Given the description of an element on the screen output the (x, y) to click on. 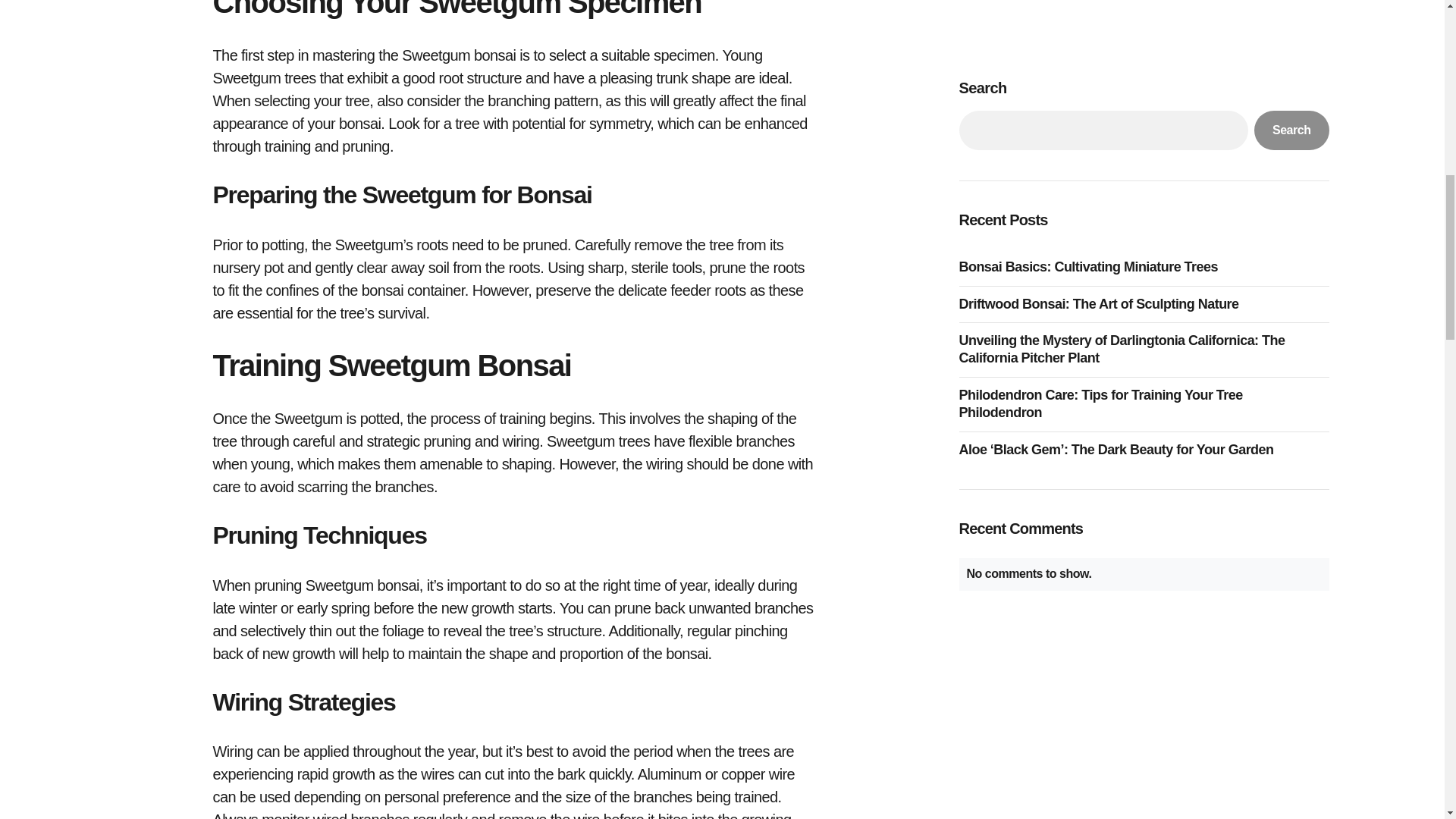
Philodendron Care: Tips for Training Your Tree Philodendron (1142, 94)
Driftwood Bonsai: The Art of Sculpting Nature (1102, 1)
